Given the description of an element on the screen output the (x, y) to click on. 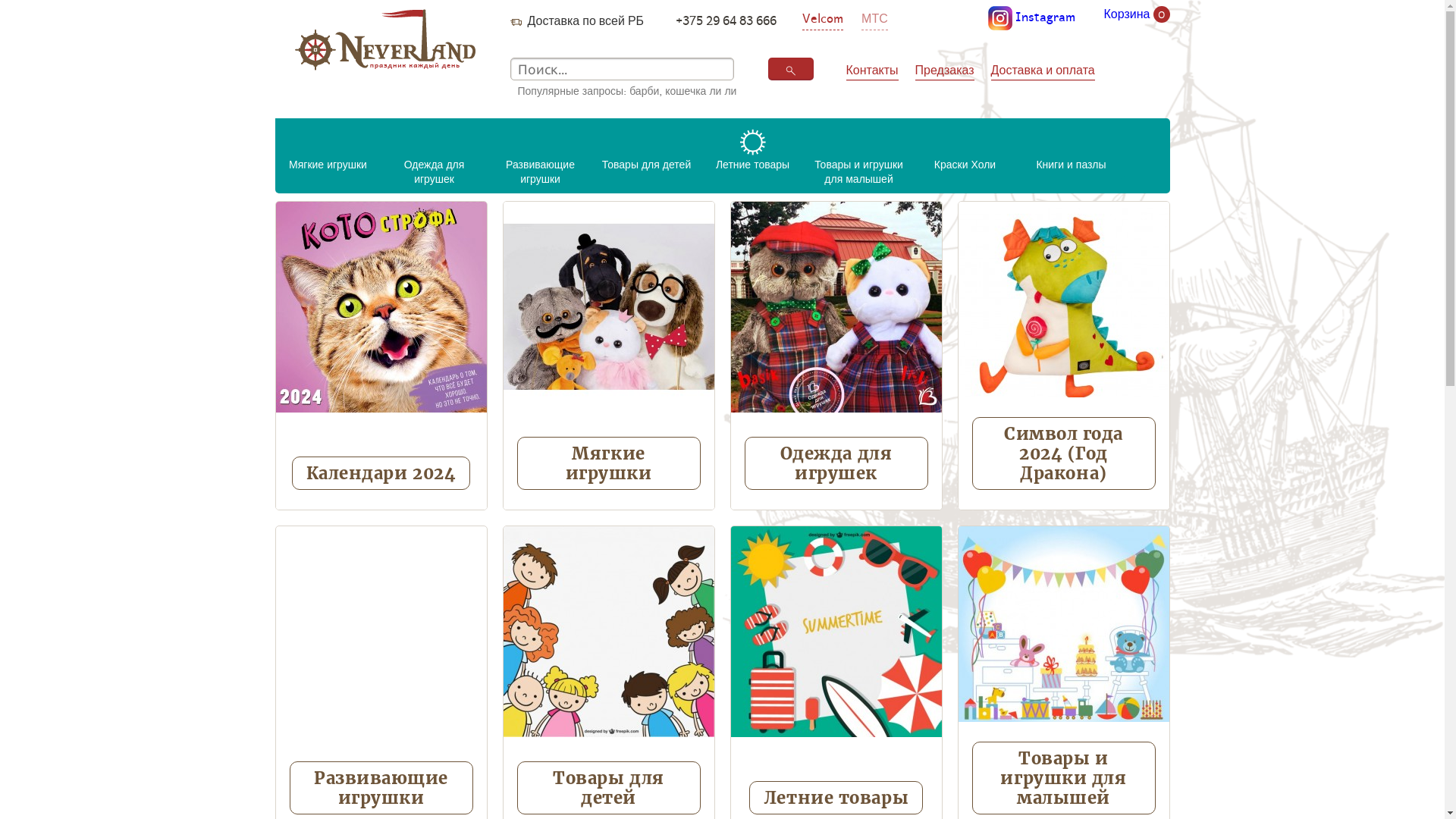
Instagram Element type: text (1031, 18)
+375 29 64 83 666 Element type: text (725, 19)
